Given the description of an element on the screen output the (x, y) to click on. 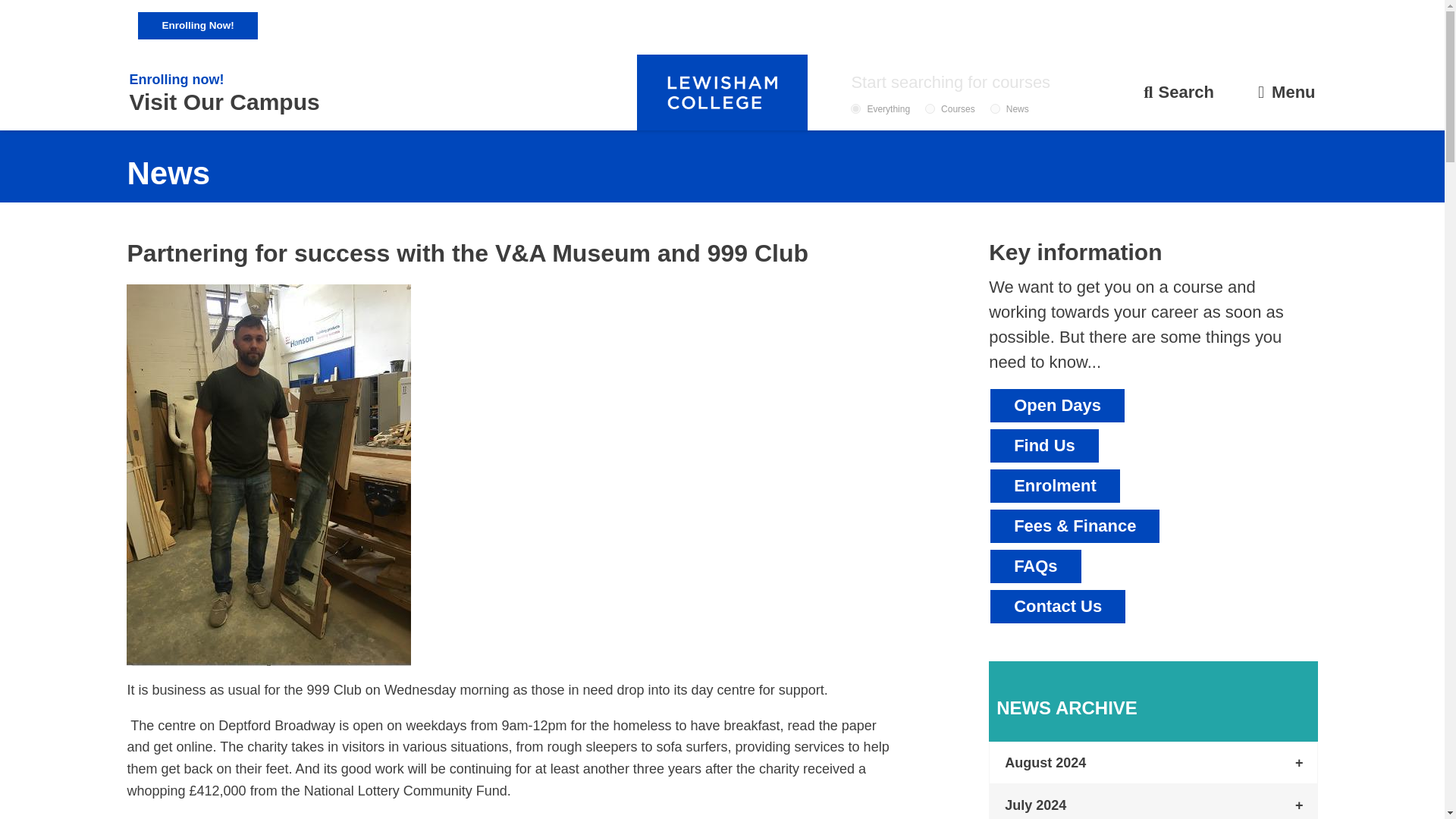
1 (929, 108)
2 (995, 108)
3 (855, 108)
